Given the description of an element on the screen output the (x, y) to click on. 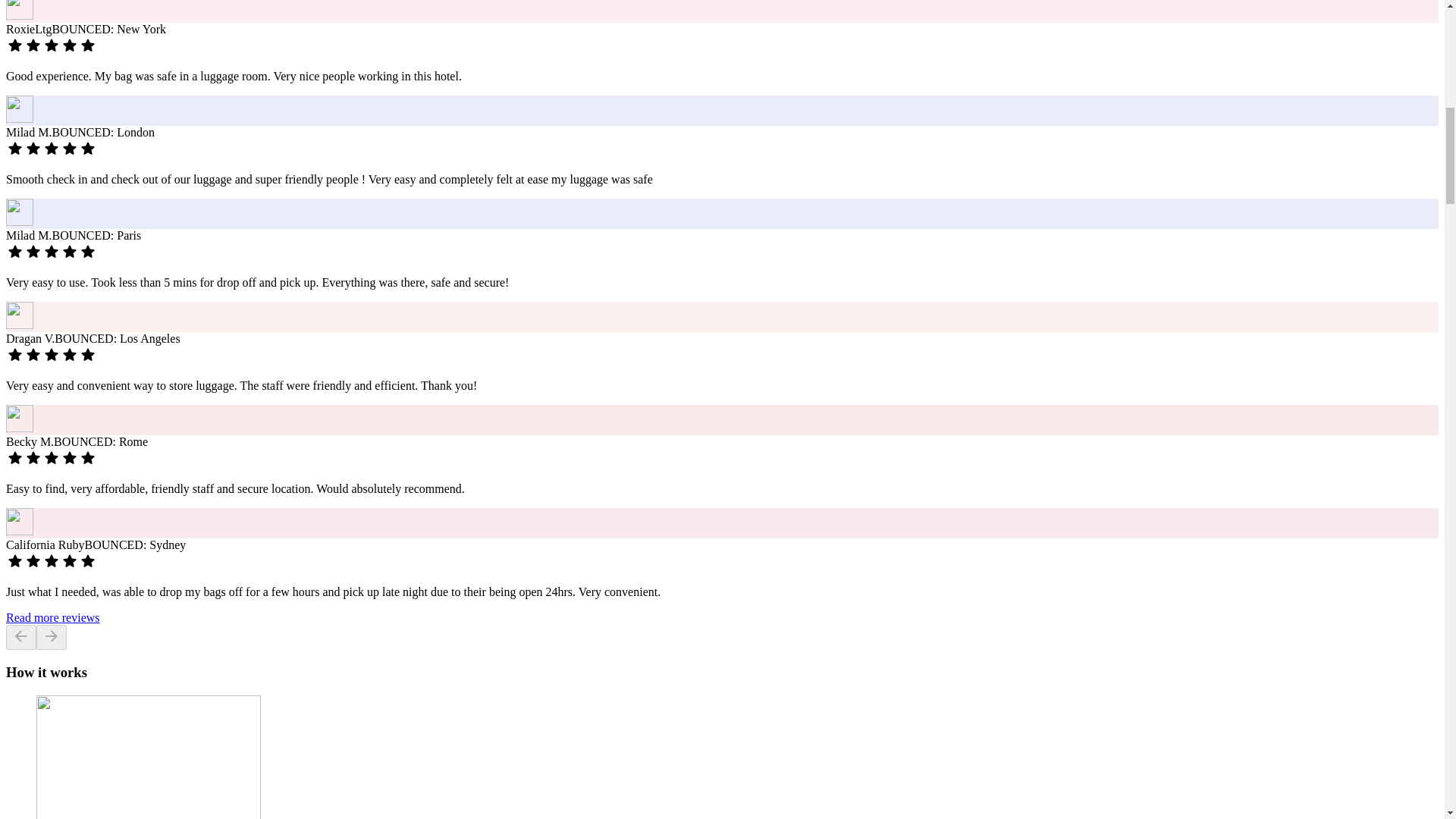
Read more reviews (52, 617)
